Given the description of an element on the screen output the (x, y) to click on. 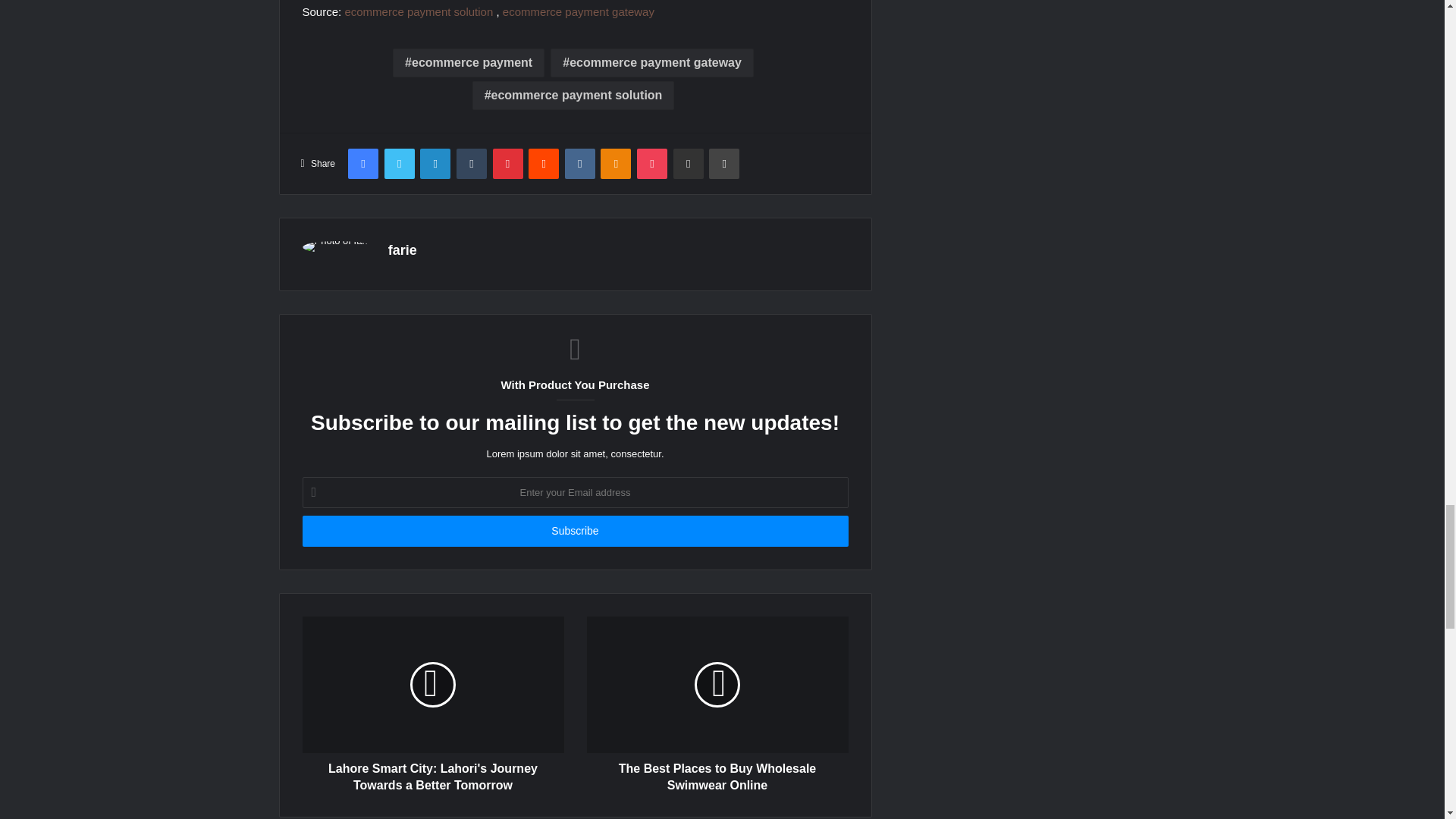
Subscribe (574, 531)
